Given the description of an element on the screen output the (x, y) to click on. 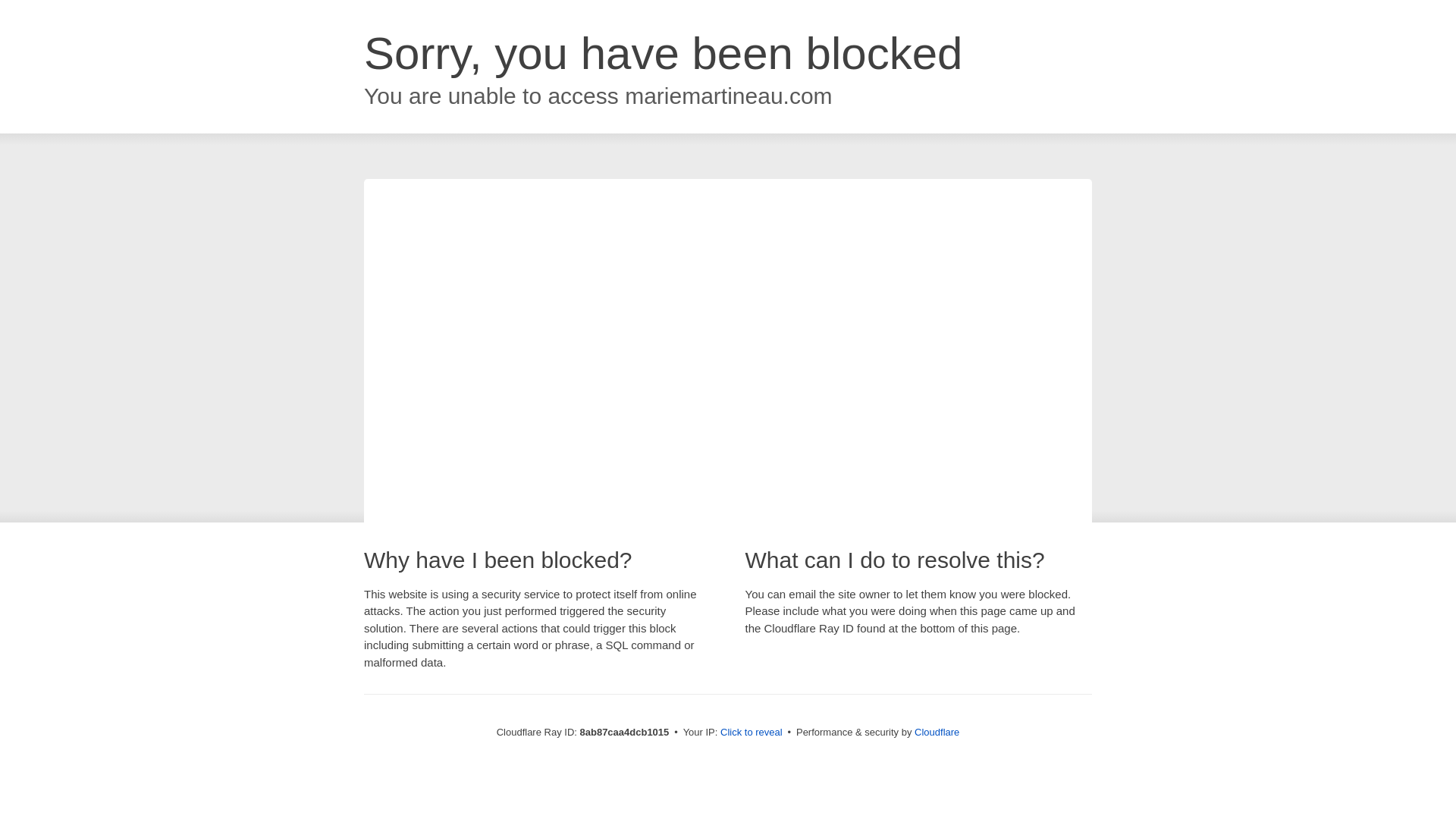
Click to reveal (751, 732)
Cloudflare (936, 731)
